Given the description of an element on the screen output the (x, y) to click on. 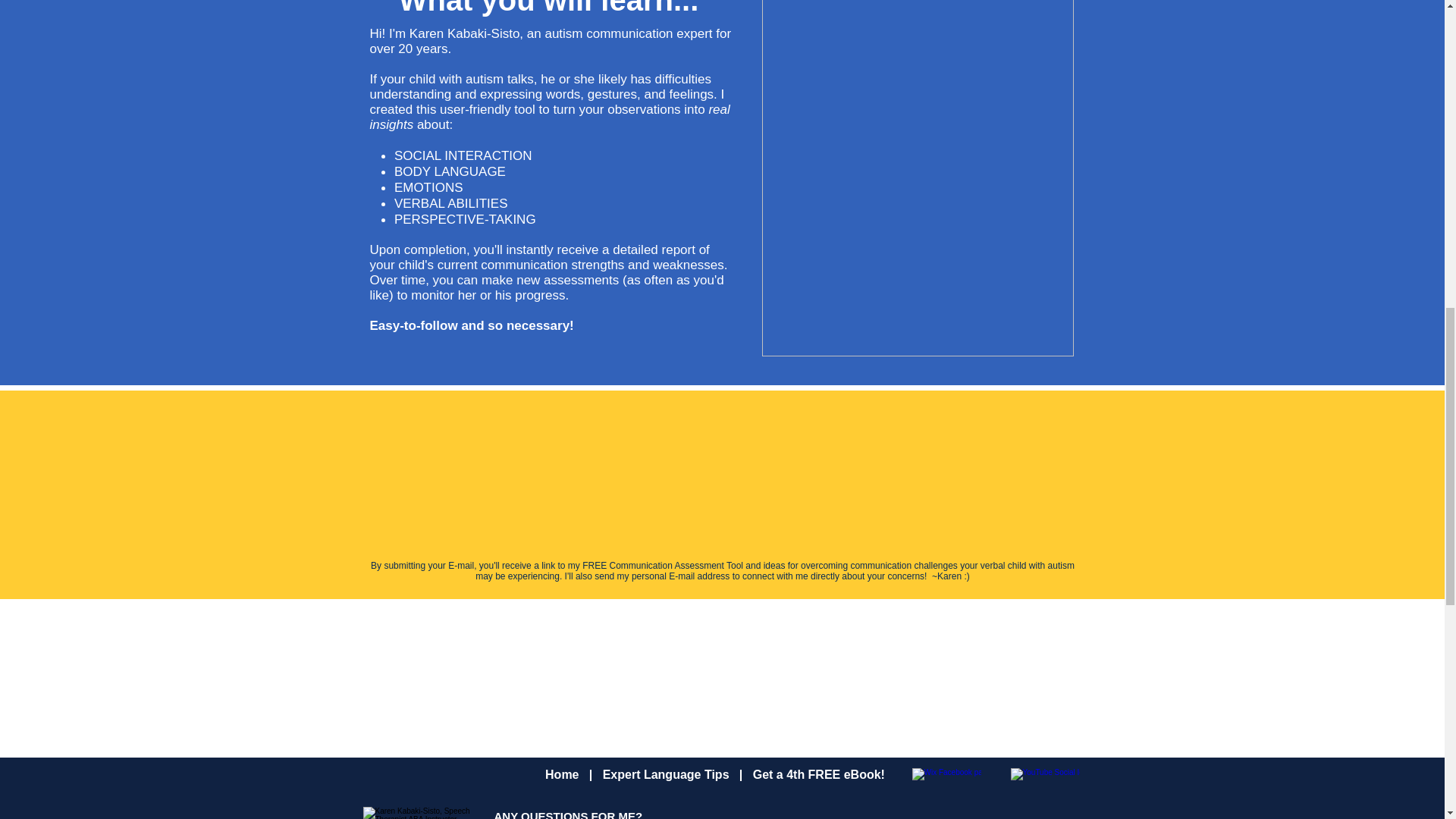
Get a 4th FREE eBook! (818, 774)
Home (561, 774)
Expert Language Tips (665, 774)
